Given the description of an element on the screen output the (x, y) to click on. 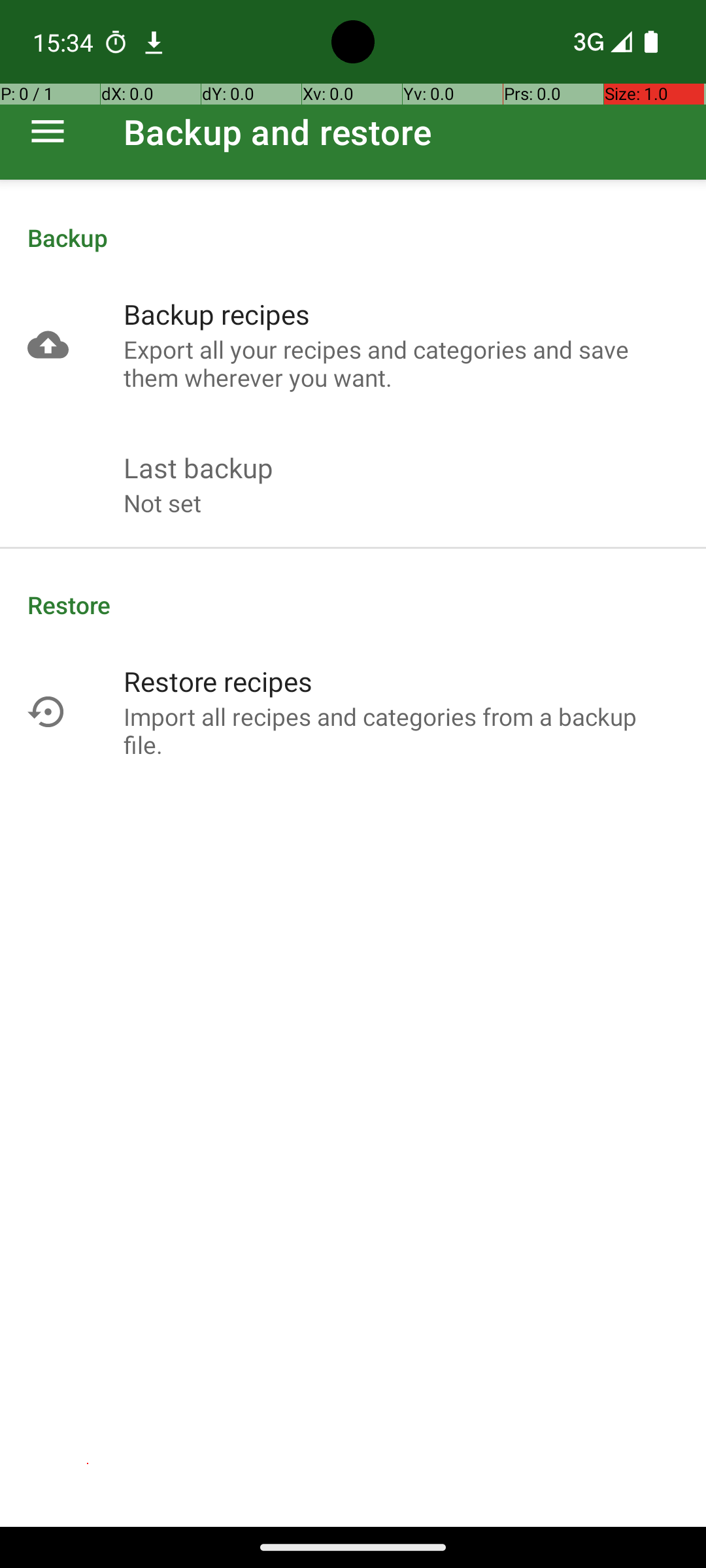
Backup recipes Element type: android.widget.TextView (216, 313)
Export all your recipes and categories and save them wherever you want. Element type: android.widget.TextView (400, 362)
Last backup Element type: android.widget.TextView (198, 467)
Not set Element type: android.widget.TextView (162, 502)
Restore Element type: android.widget.TextView (352, 604)
Restore recipes Element type: android.widget.TextView (217, 680)
Import all recipes and categories from a backup file. Element type: android.widget.TextView (400, 730)
